Given the description of an element on the screen output the (x, y) to click on. 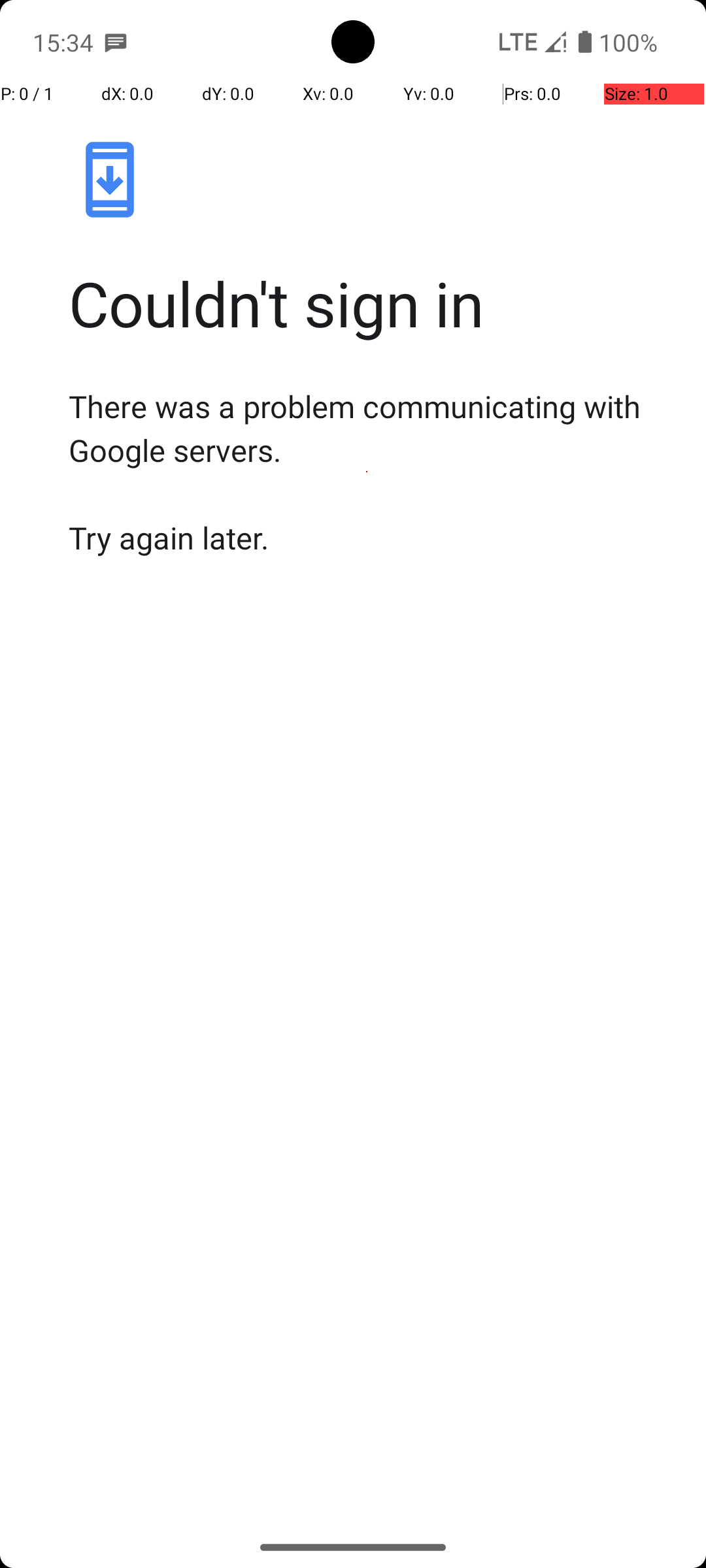
Couldn't sign in Element type: android.widget.TextView (366, 302)
There was a problem communicating with Google servers. 

Try again later. Element type: android.widget.TextView (366, 471)
